Given the description of an element on the screen output the (x, y) to click on. 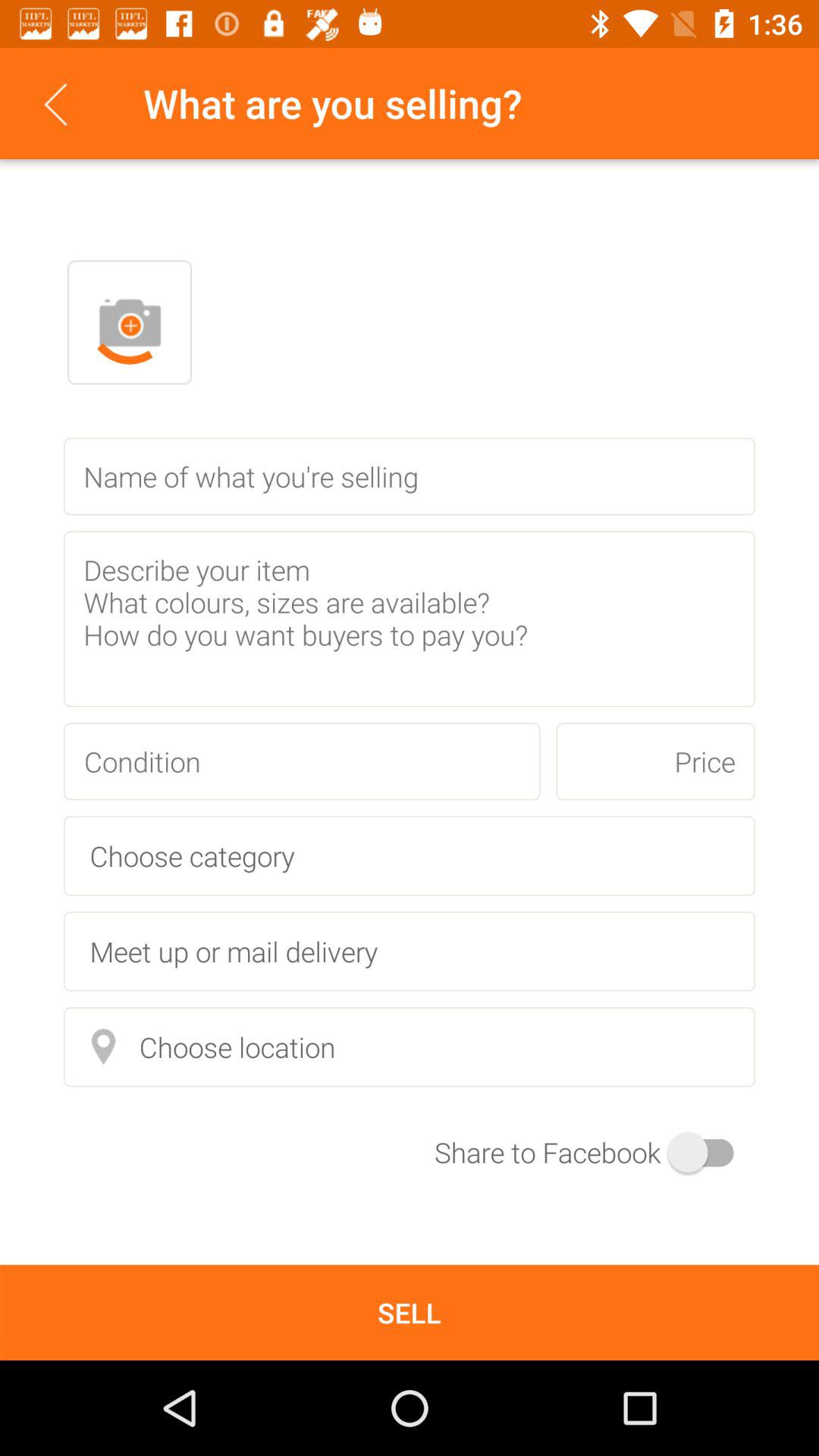
space for product name (409, 476)
